Given the description of an element on the screen output the (x, y) to click on. 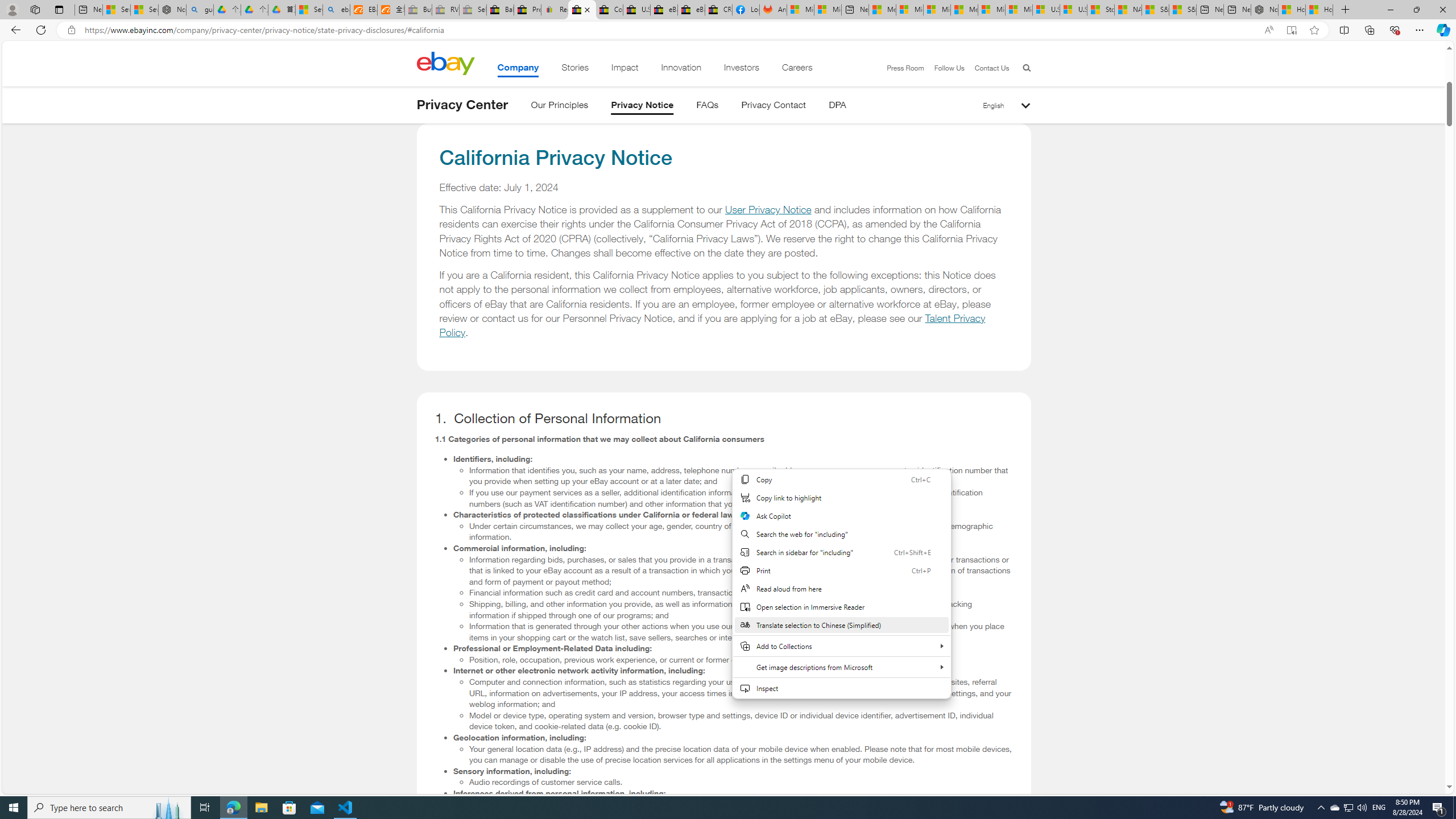
Press Room - eBay Inc. (527, 9)
Copy (841, 479)
U.S. State Privacy Disclosures - eBay Inc. (636, 9)
Log into Facebook (746, 9)
Talent Privacy Policy (712, 325)
DPA (836, 107)
Buy Auto Parts & Accessories | eBay - Sleeping (418, 9)
guge yunpan - Search (200, 9)
